Given the description of an element on the screen output the (x, y) to click on. 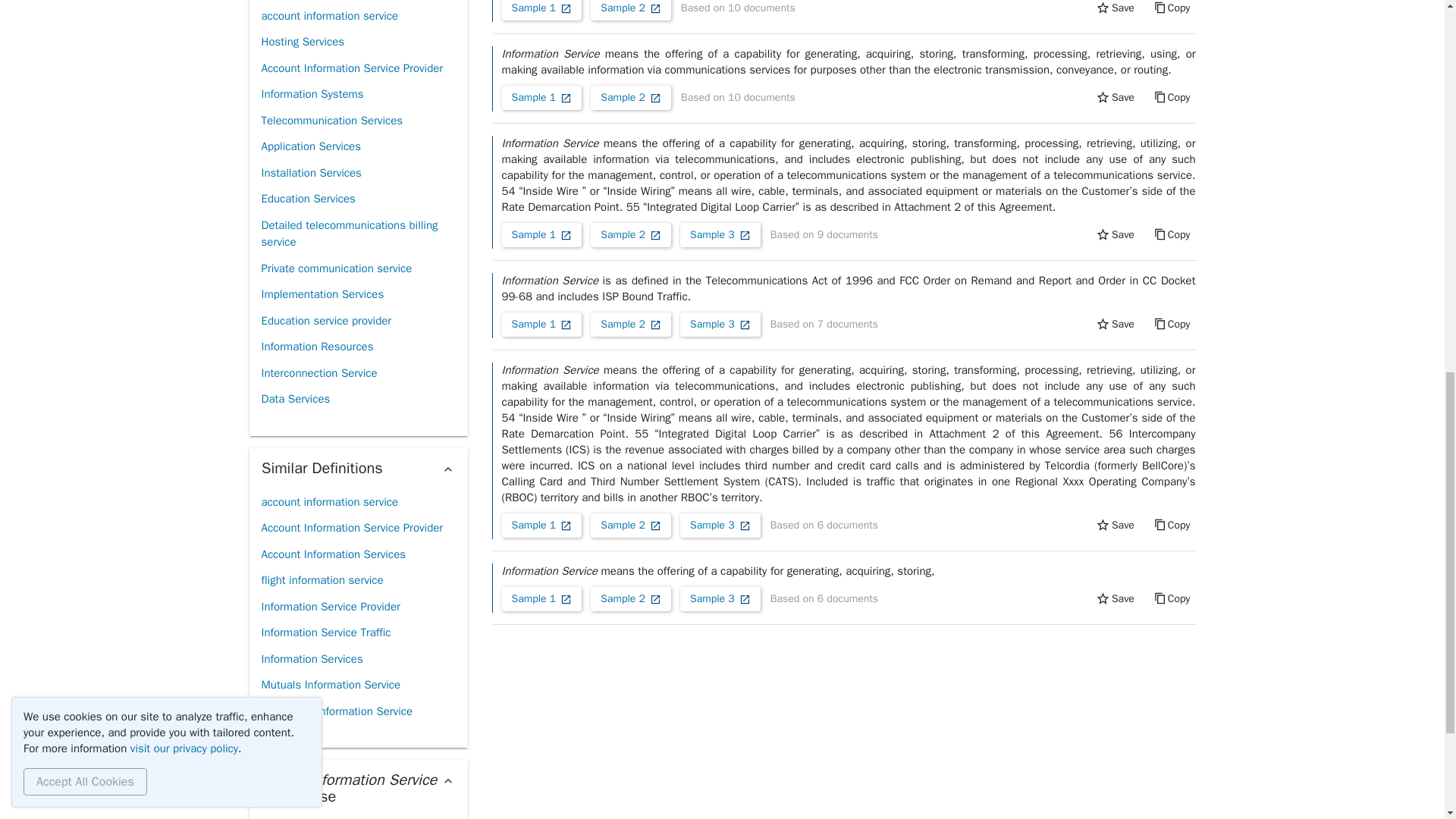
account information service (328, 16)
Telecommunication Services (331, 120)
Account Information Service Provider (351, 68)
Hosting Services (301, 41)
Information Systems (311, 94)
Installation Services (310, 172)
Information processing system (336, 1)
Application Services (309, 146)
